Given the description of an element on the screen output the (x, y) to click on. 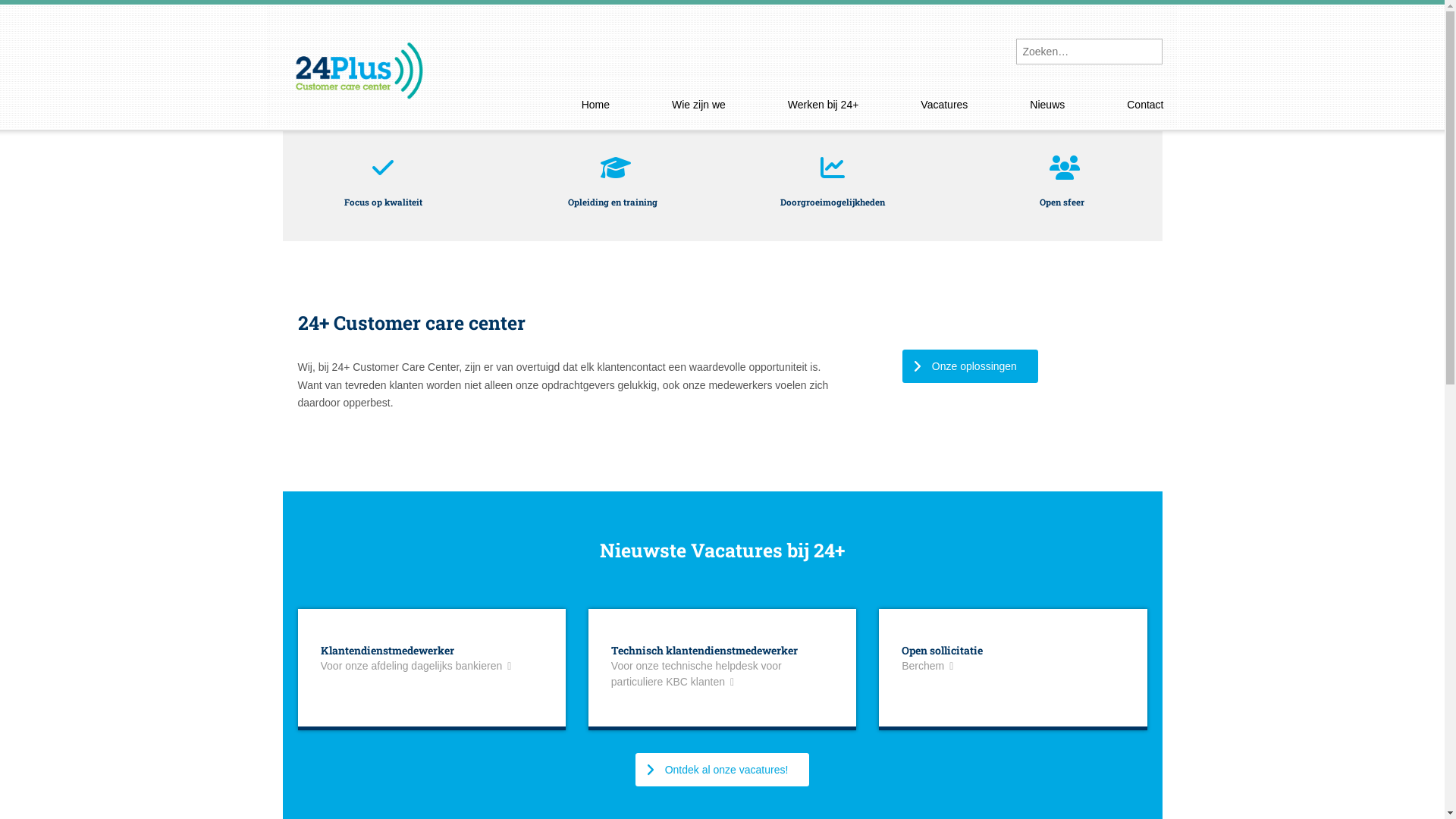
Contact Element type: text (1144, 105)
Onze oplossingen Element type: text (970, 365)
Home Element type: text (595, 105)
Open sollicitatie
Berchem Element type: text (1012, 657)
Ontdek al onze vacatures! Element type: text (722, 769)
Werken bij 24+ Element type: text (823, 105)
Nieuws Element type: text (1046, 105)
Wie zijn we Element type: text (698, 105)
Skip to content Element type: text (610, 103)
24+ Element type: hover (357, 57)
Vacatures Element type: text (943, 105)
